Given the description of an element on the screen output the (x, y) to click on. 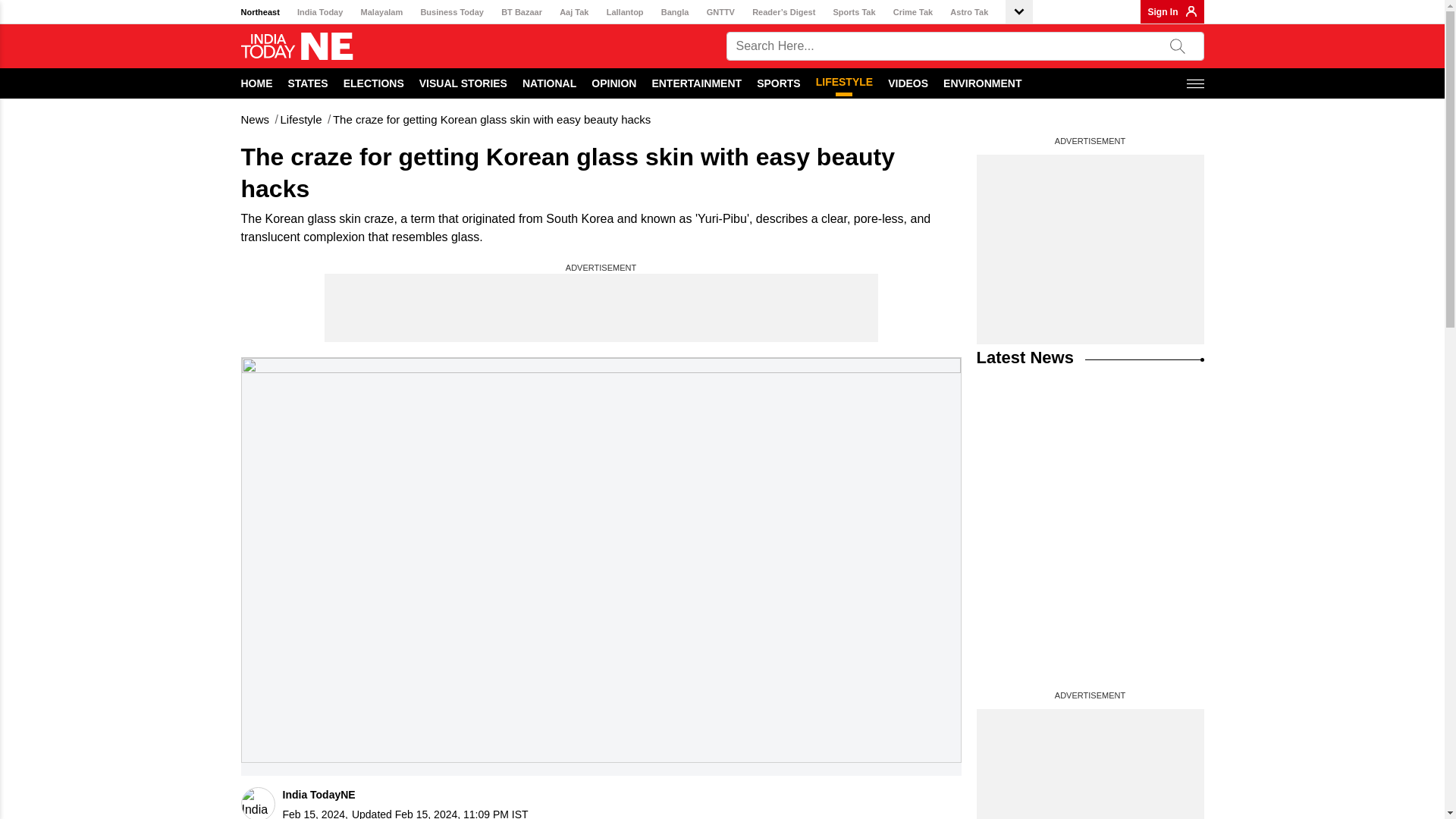
GNTTV (720, 12)
Bangla (674, 12)
Bangla (674, 12)
Aaj Tak (573, 12)
Business Today (451, 12)
BT Bazaar (520, 12)
OPINION (613, 82)
HOME (257, 82)
Sign In (1162, 11)
Lallantop (625, 12)
